Given the description of an element on the screen output the (x, y) to click on. 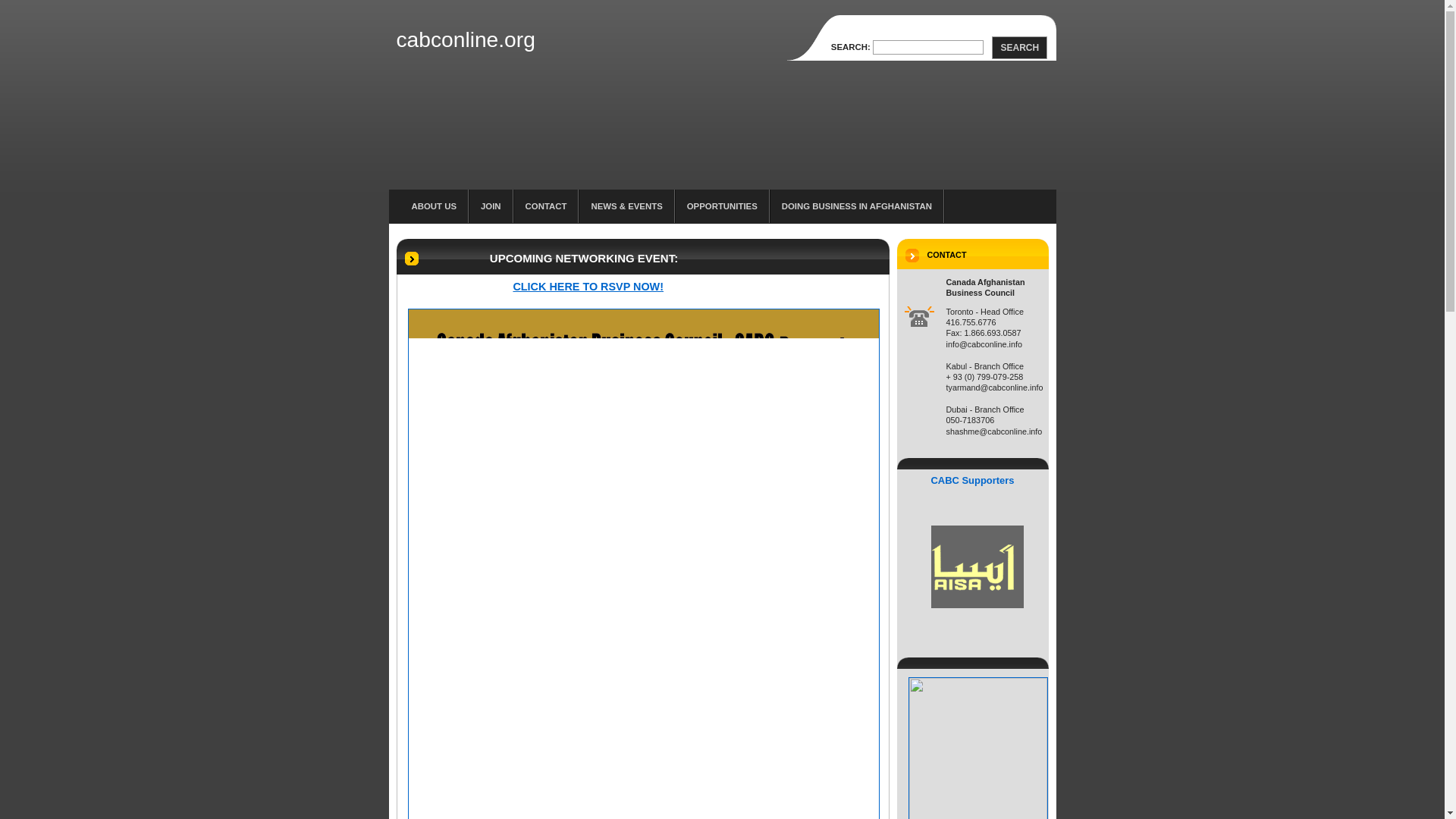
SEARCH (1018, 47)
ABOUT US (431, 206)
DOING BUSINESS IN AFGHANISTAN (856, 206)
JOIN (490, 206)
OPPORTUNITIES (722, 206)
CLICK HERE TO RSVP NOW! (587, 286)
CONTACT (546, 206)
